Given the description of an element on the screen output the (x, y) to click on. 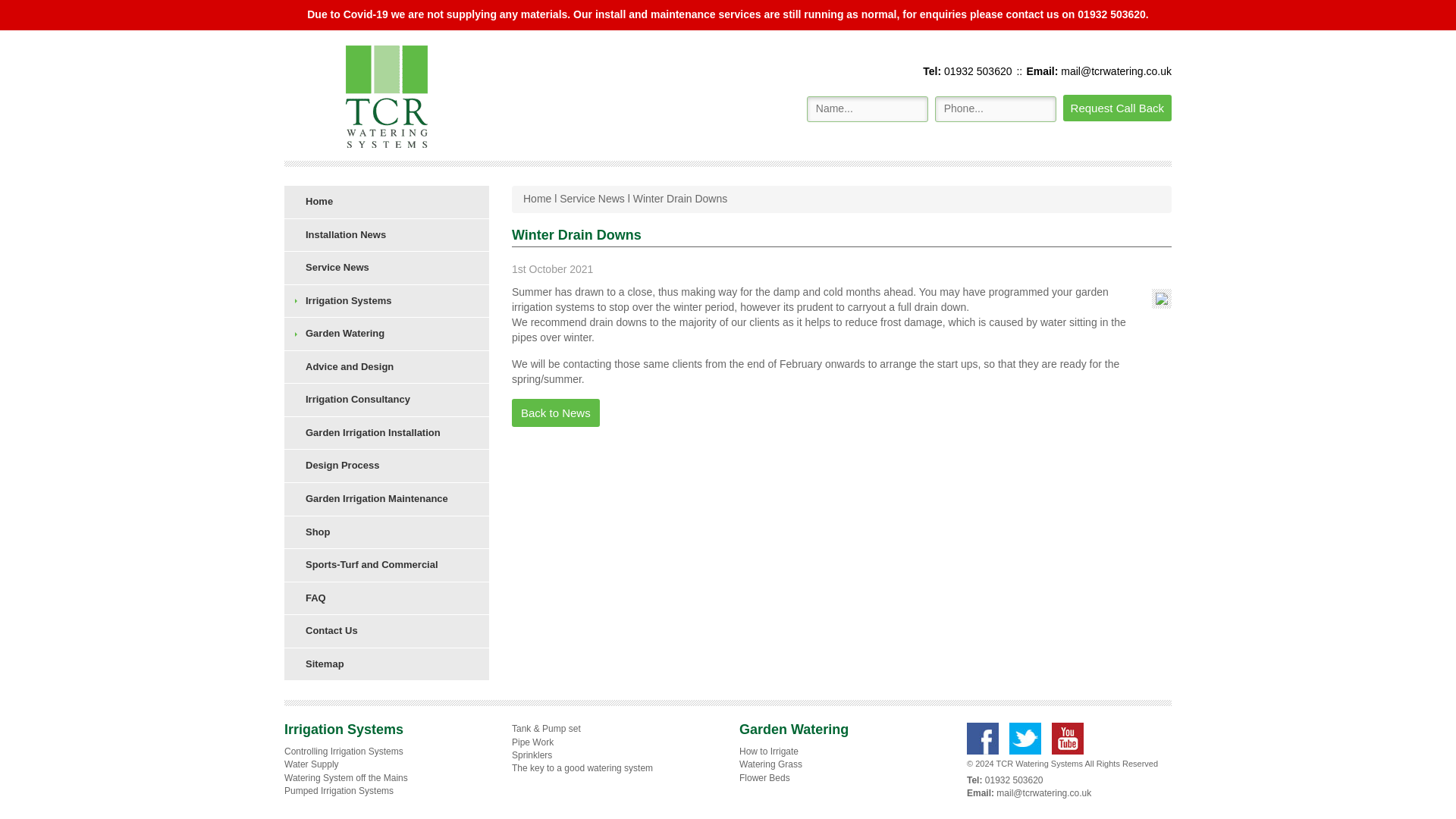
FAQ (386, 598)
Garden Watering (386, 333)
Irrigation Systems (386, 301)
Home (536, 198)
Home (386, 201)
Controlling Irrigation Systems (343, 751)
Watering System off the Mains (345, 777)
Irrigation Consultancy (386, 400)
01932 503620 (975, 70)
Service News (591, 198)
Go to Garden Watering Systems : TCR watering Systems. (536, 198)
Water Supply (311, 764)
Sports-Turf and Commercial (386, 564)
Garden Irrigation Maintenance (386, 499)
Sprinklers (531, 755)
